Given the description of an element on the screen output the (x, y) to click on. 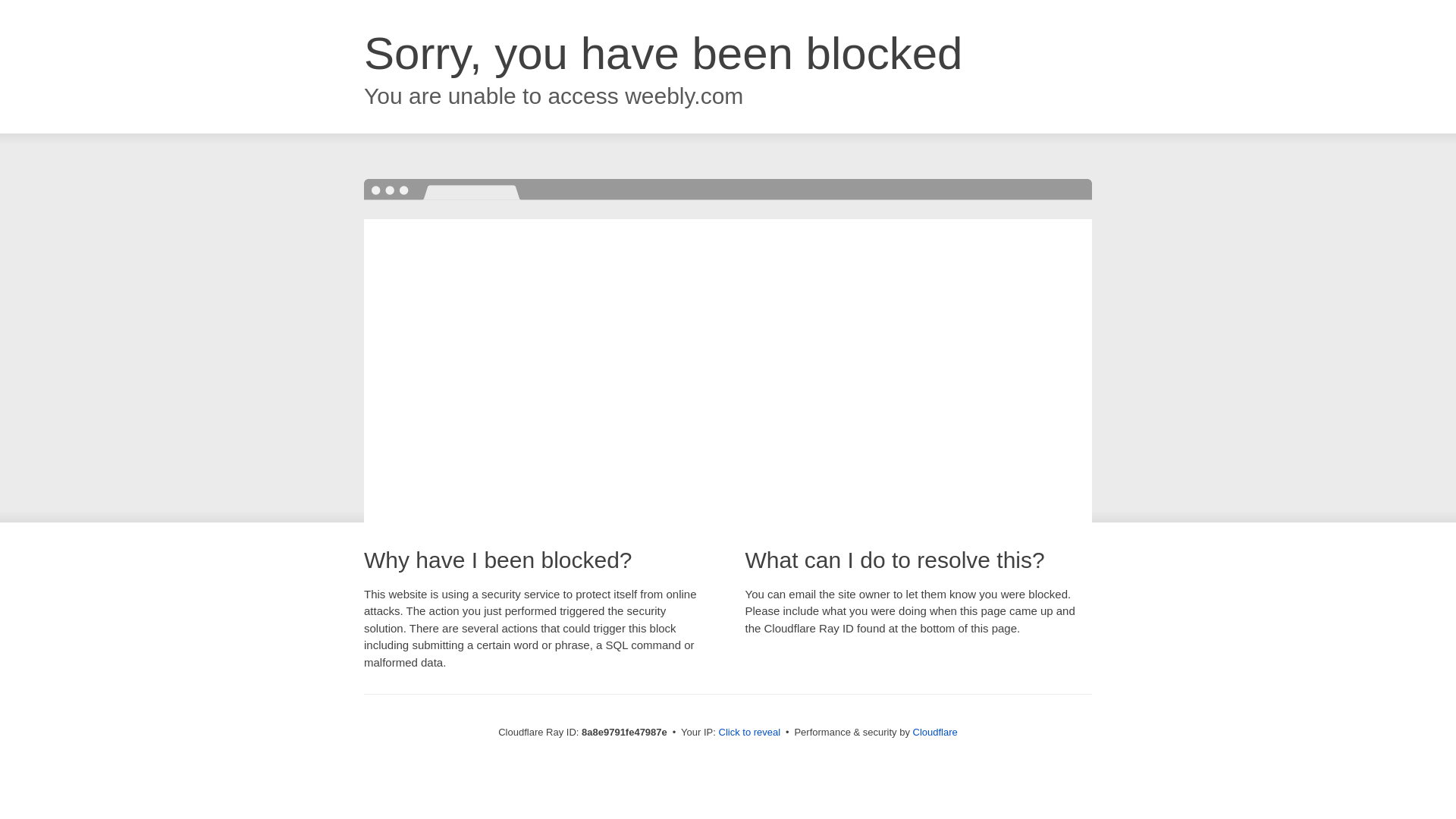
Cloudflare (935, 731)
Click to reveal (749, 732)
